Given the description of an element on the screen output the (x, y) to click on. 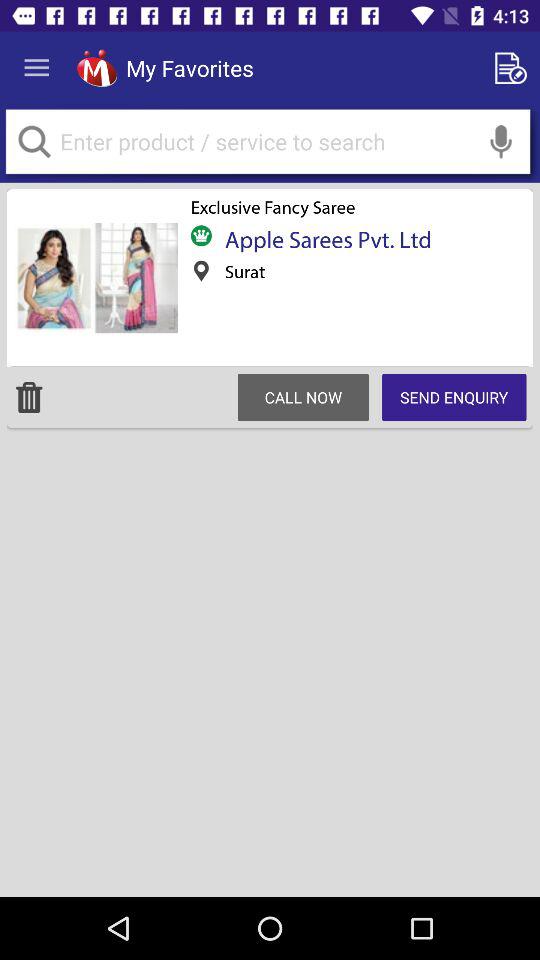
launch item below surat (303, 397)
